Given the description of an element on the screen output the (x, y) to click on. 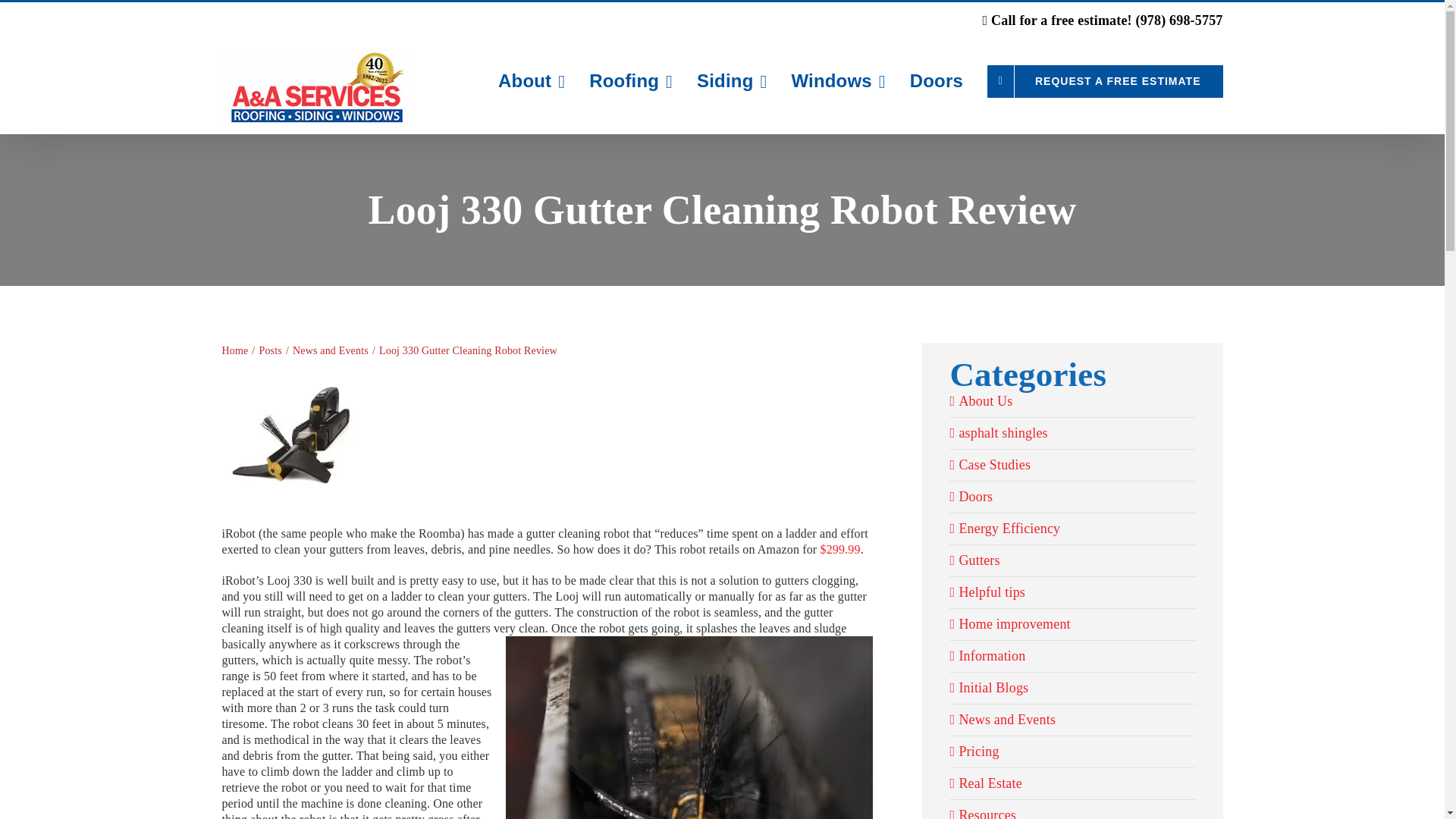
Windows (837, 81)
REQUEST A FREE ESTIMATE (1105, 81)
Siding (732, 81)
Roofing (630, 81)
About (530, 81)
looj330guttercleaningrobotreview (293, 443)
